Given the description of an element on the screen output the (x, y) to click on. 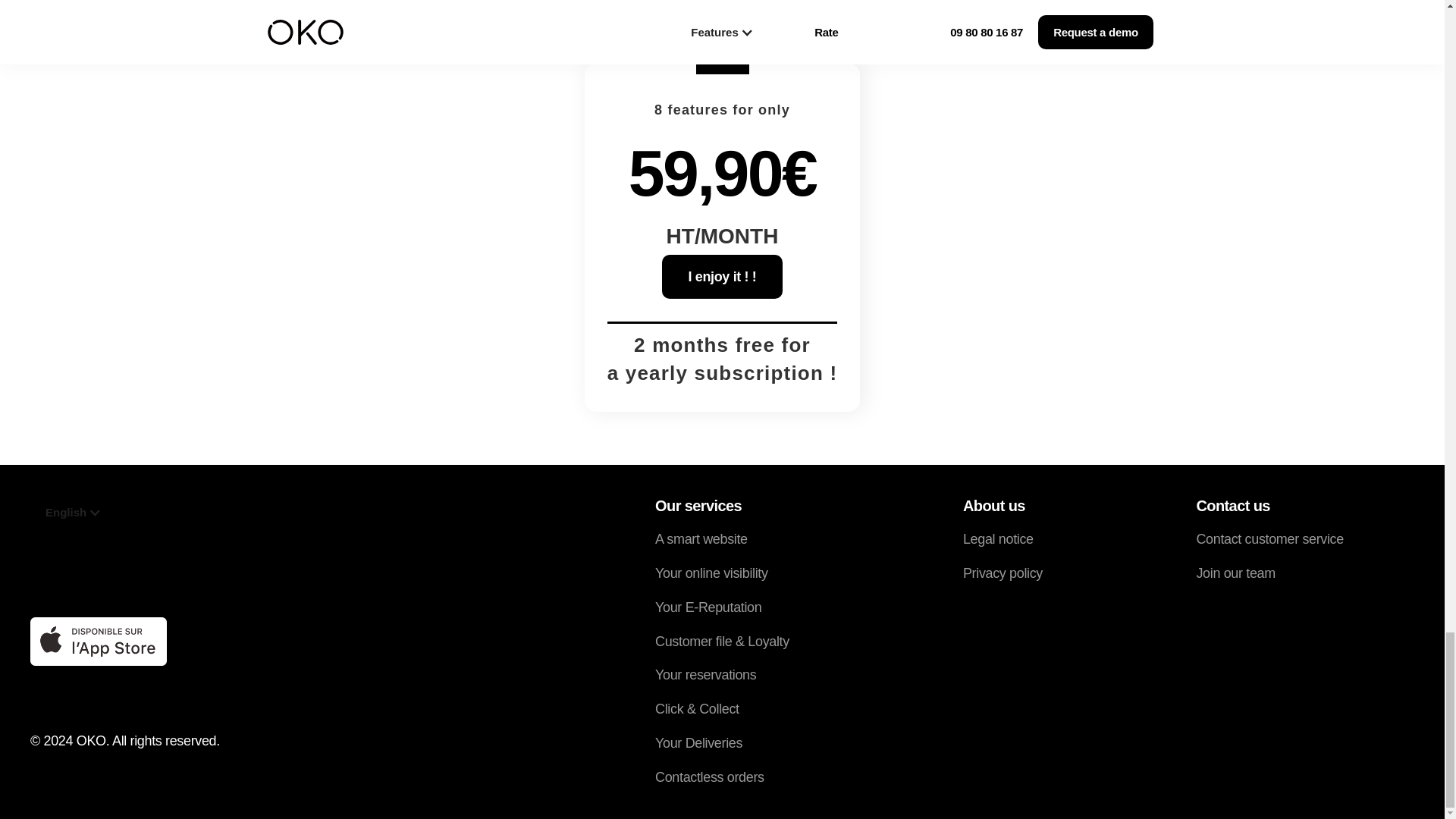
Your E-Reputation (722, 608)
A smart website (722, 539)
Your reservations (722, 675)
I enjoy it ! ! (722, 276)
Your online visibility (722, 573)
Your Deliveries (722, 743)
